Given the description of an element on the screen output the (x, y) to click on. 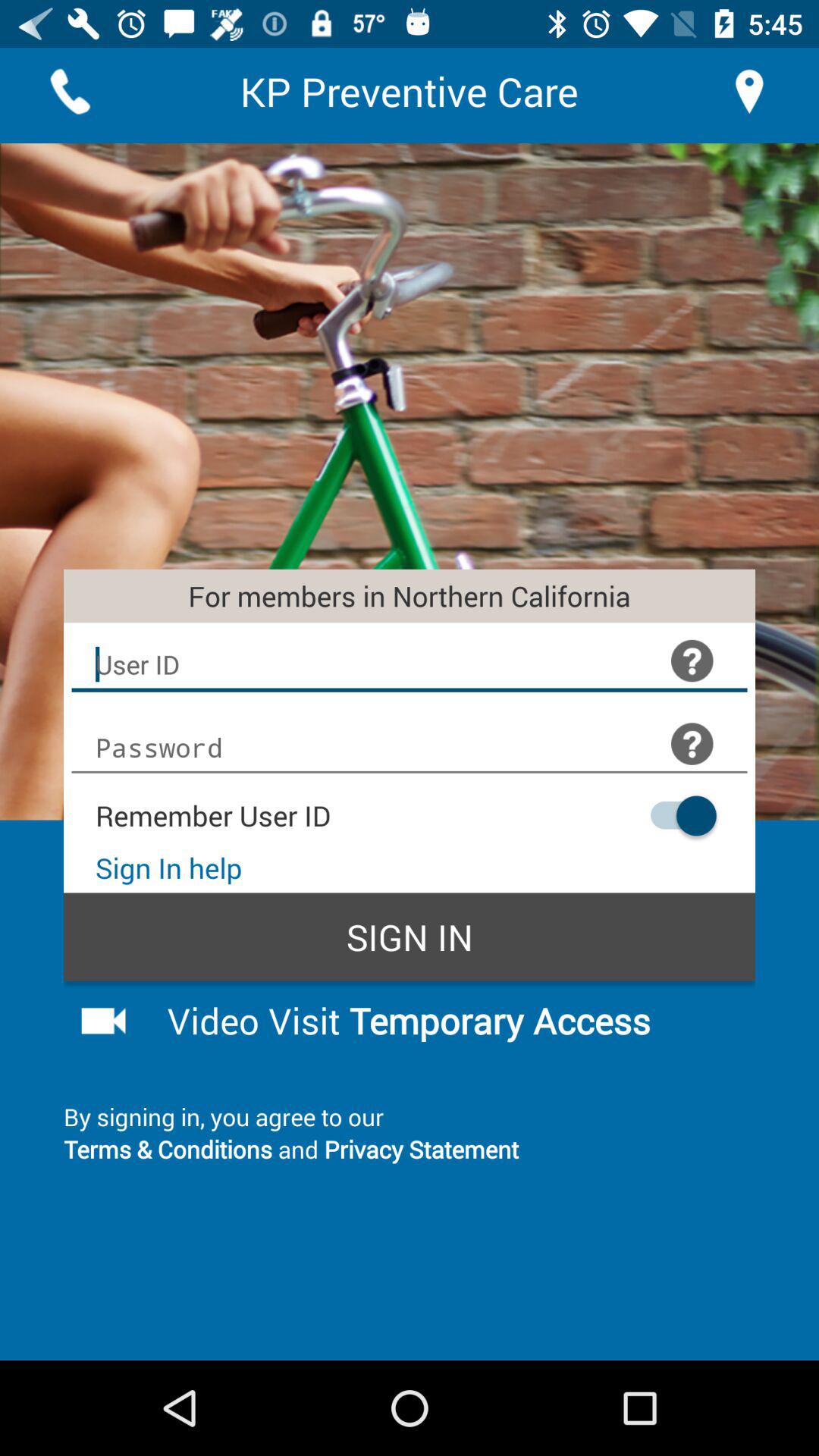
press item above the by signing in app (449, 1020)
